Given the description of an element on the screen output the (x, y) to click on. 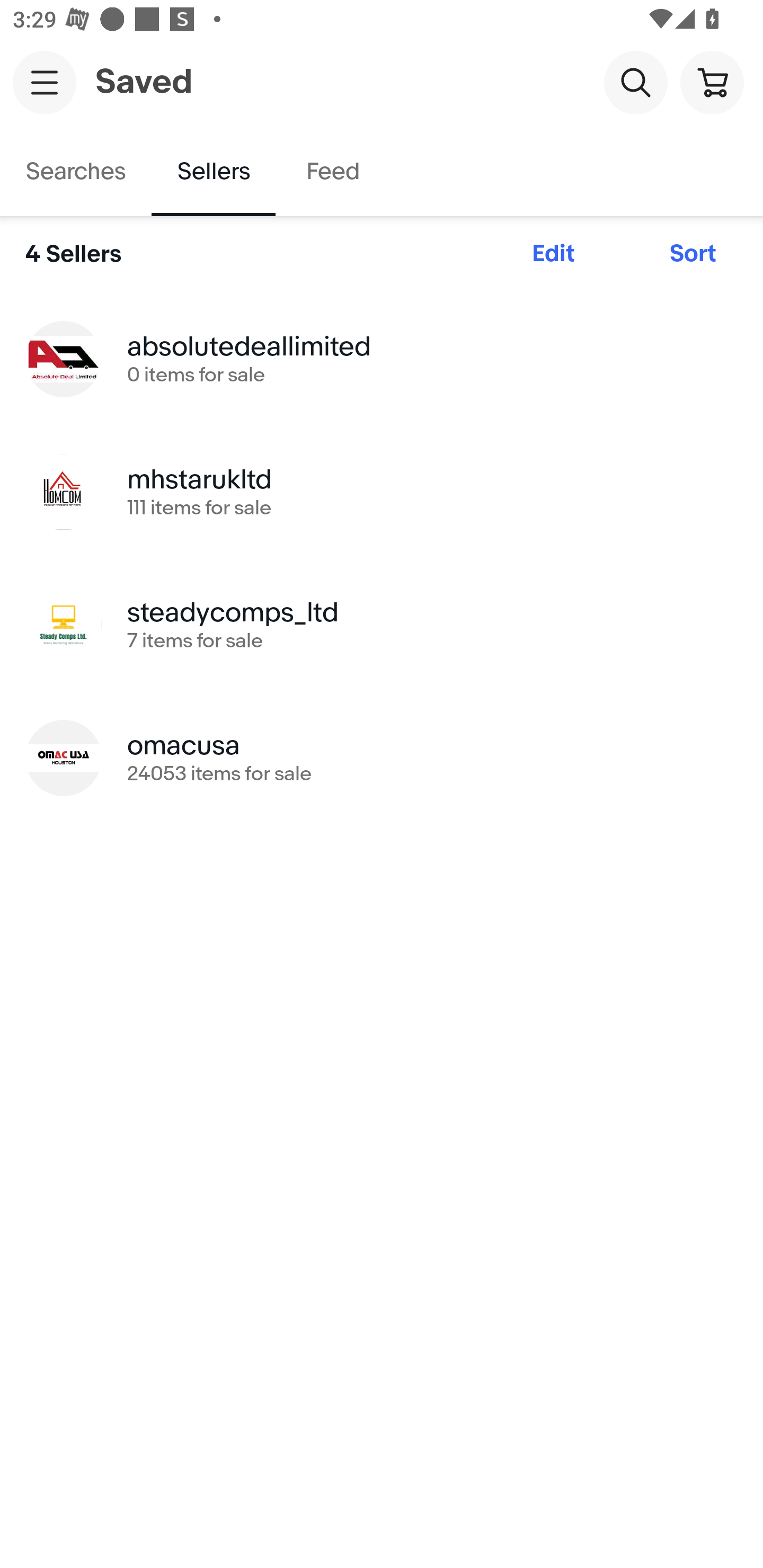
Main navigation, open (44, 82)
Search (635, 81)
Cart button shopping cart (711, 81)
Searches (75, 171)
Feed (332, 171)
Edit (552, 253)
Sort (693, 253)
absolutedeallimited 0 items for sale (381, 357)
mhstarukltd 111 items for sale (381, 491)
steadycomps_ltd 7 items for sale (381, 624)
omacusa 24053 items for sale (381, 757)
